Given the description of an element on the screen output the (x, y) to click on. 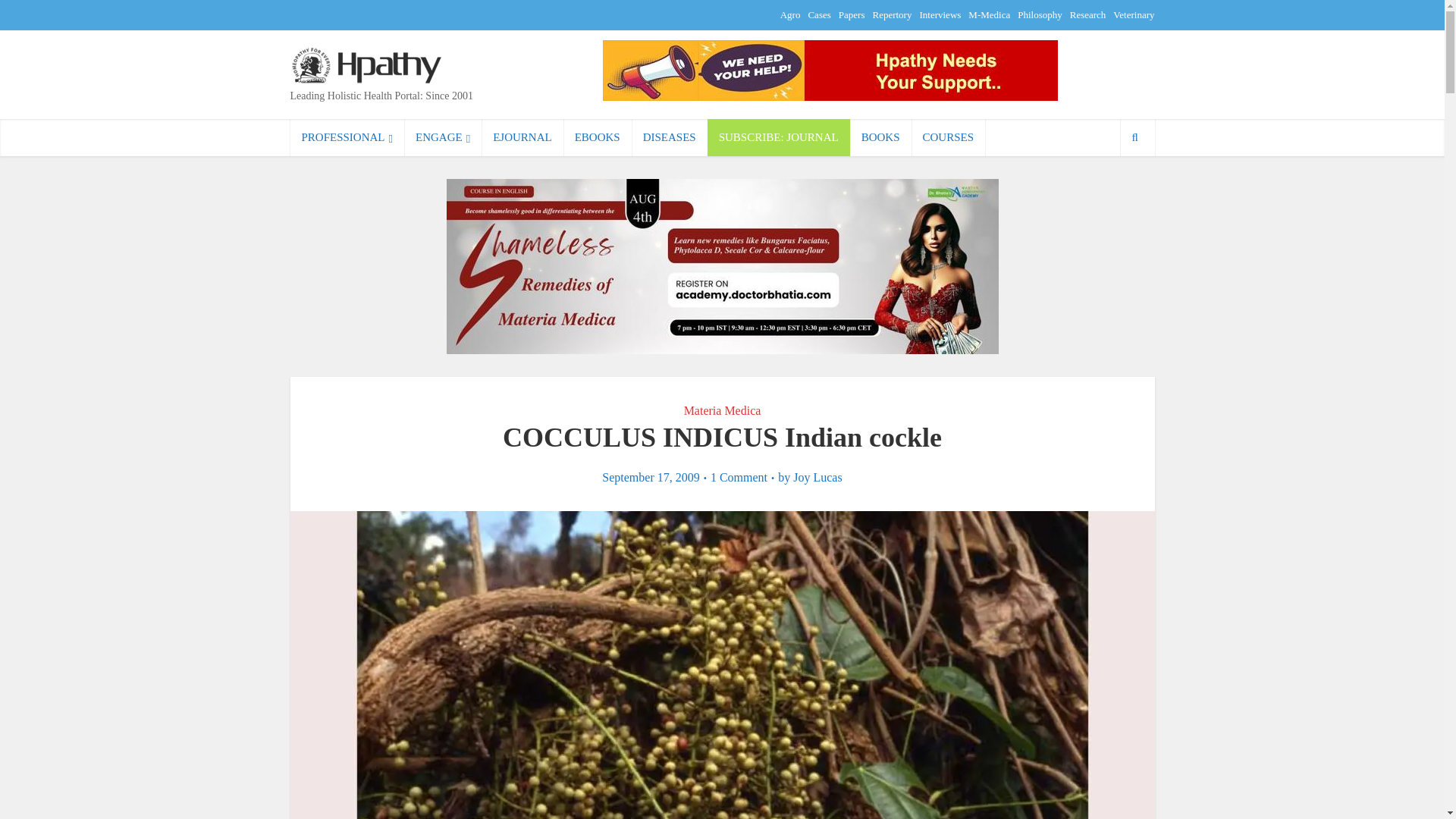
SUBSCRIBE: JOURNAL (778, 137)
Research (1088, 14)
Interviews (939, 14)
Veterinary (1133, 14)
Agro (790, 14)
EJOURNAL (522, 137)
Repertory (891, 14)
COURSES (948, 137)
EBOOKS (597, 137)
BOOKS (880, 137)
Papers (851, 14)
Cases (818, 14)
PROFESSIONAL (346, 137)
ENGAGE (442, 137)
DISEASES (669, 137)
